Given the description of an element on the screen output the (x, y) to click on. 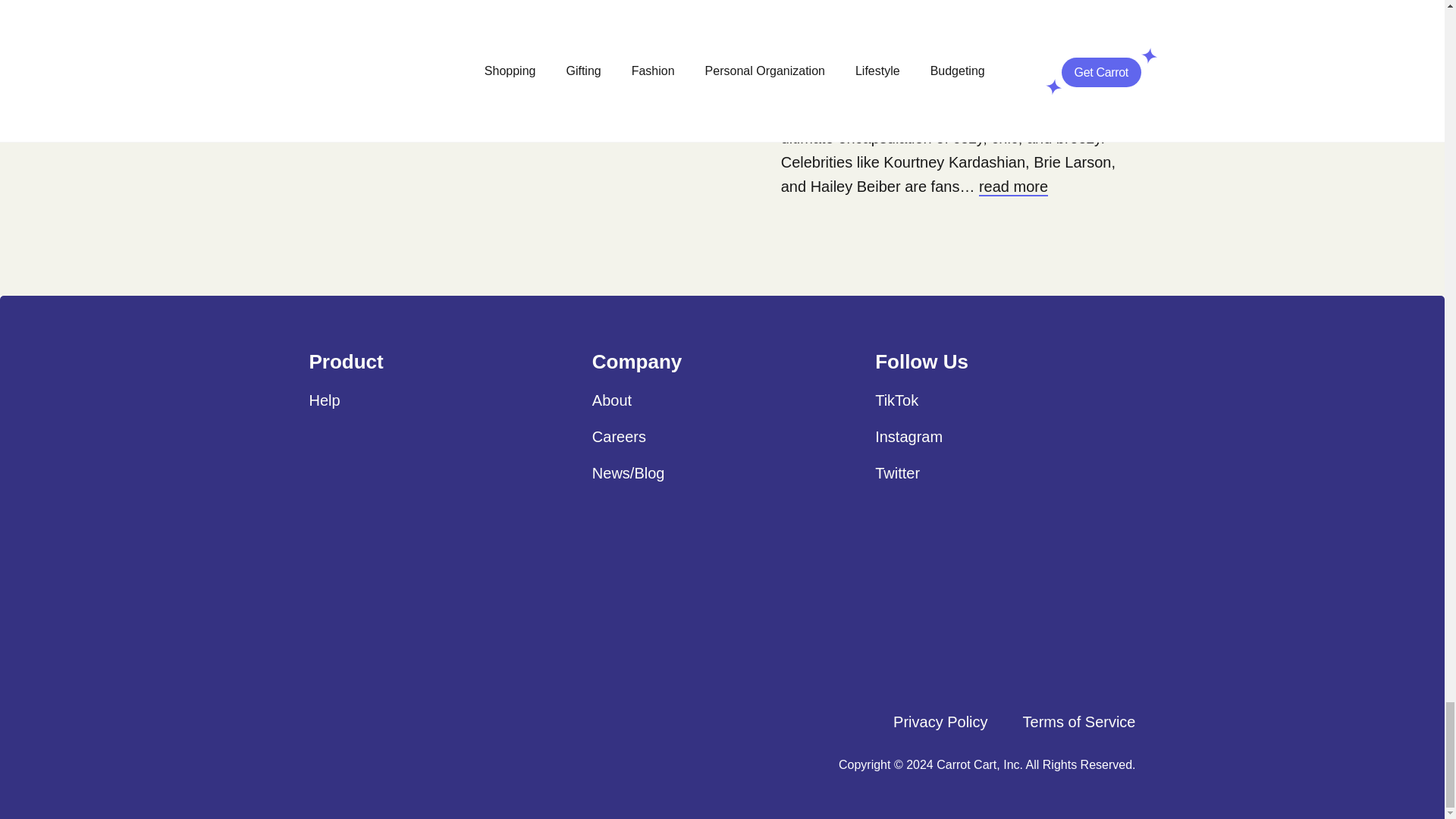
read more (863, 4)
Help (324, 400)
read more (1013, 187)
